Given the description of an element on the screen output the (x, y) to click on. 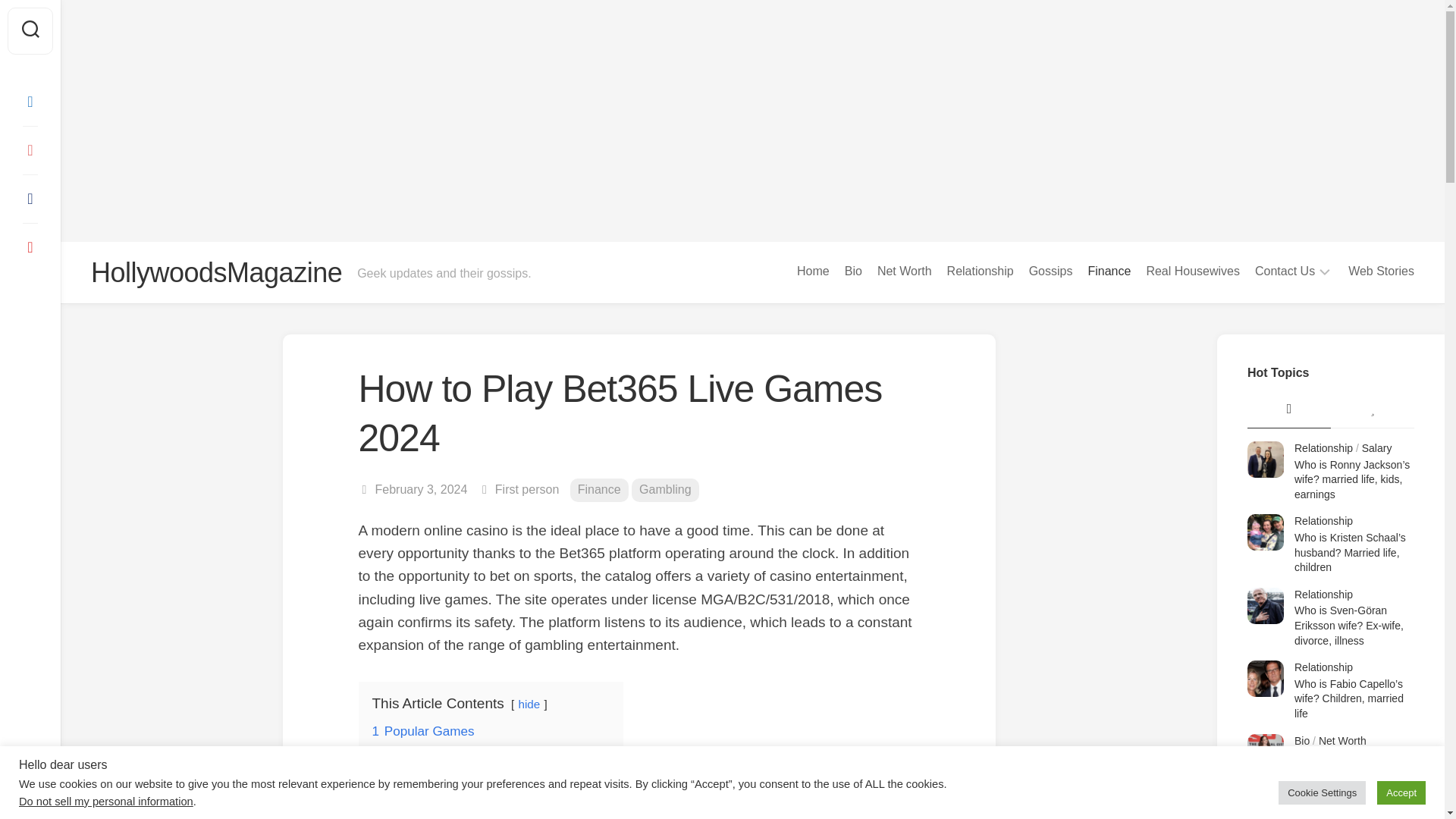
Net Worth (904, 271)
First person (527, 489)
Finance (599, 490)
Real Housewives (1192, 271)
Gambling (664, 490)
Recent Posts (1288, 409)
2 How To Bet Live? (427, 780)
Posts by First person (527, 489)
Finance (1109, 271)
Relationship (980, 271)
Contact Us (1284, 271)
1 Popular Games (422, 730)
HollywoodsMagazine (216, 272)
1.1 Bet365 Live Game Announcements (494, 756)
